Given the description of an element on the screen output the (x, y) to click on. 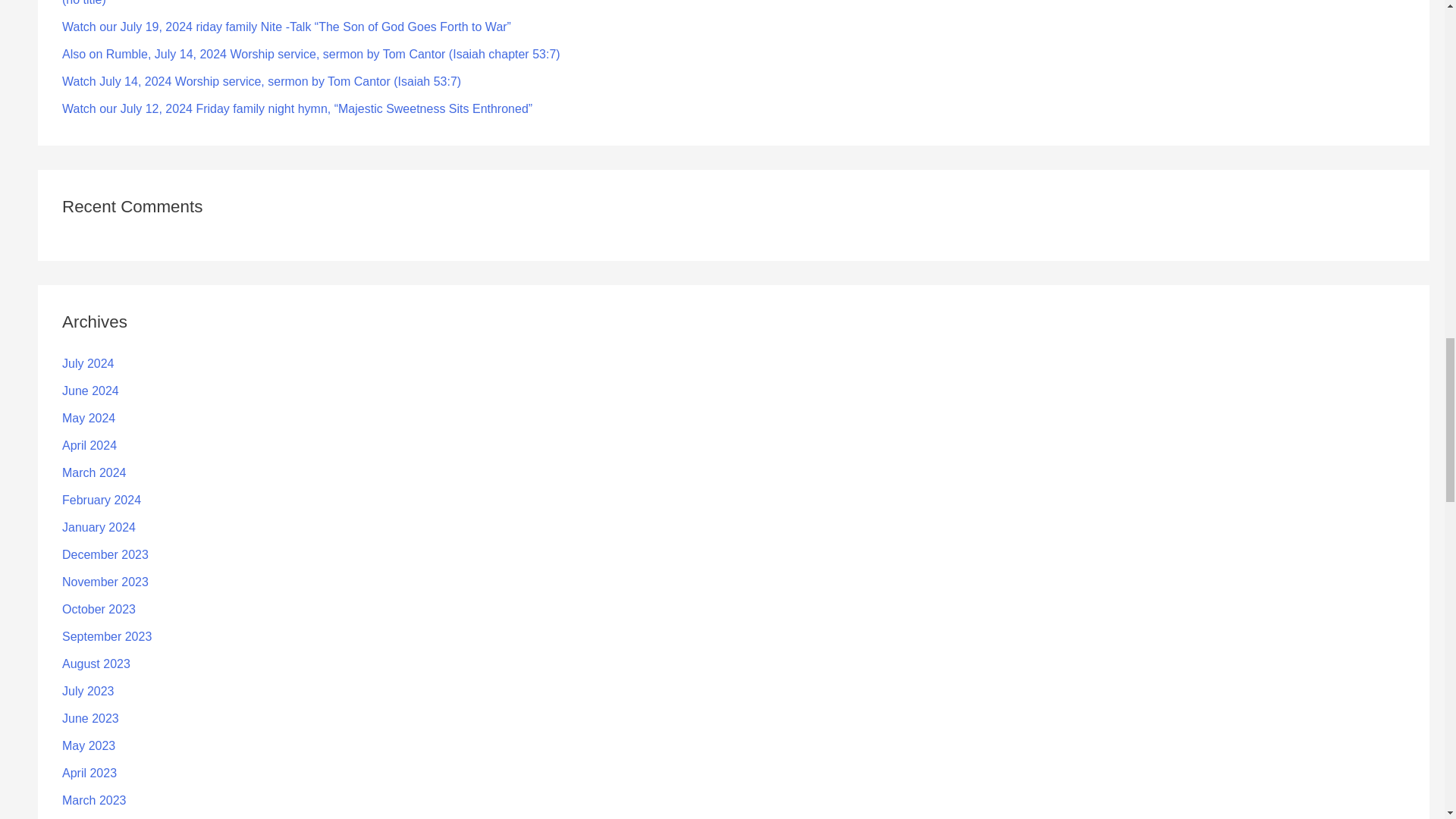
July 2024 (88, 363)
